Given the description of an element on the screen output the (x, y) to click on. 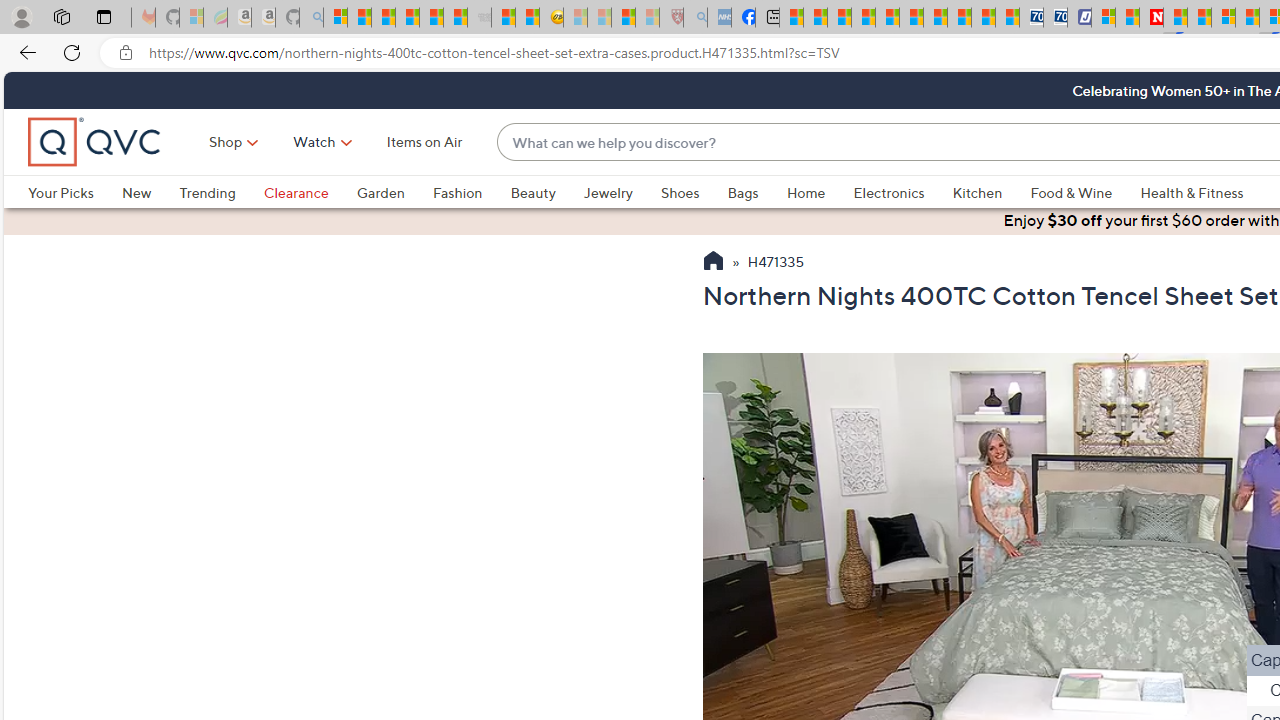
Bags (757, 192)
Jewelry (621, 192)
Trending (207, 192)
Kitchen (991, 192)
Fashion (457, 192)
New (136, 192)
Food & Wine (1085, 192)
